Given the description of an element on the screen output the (x, y) to click on. 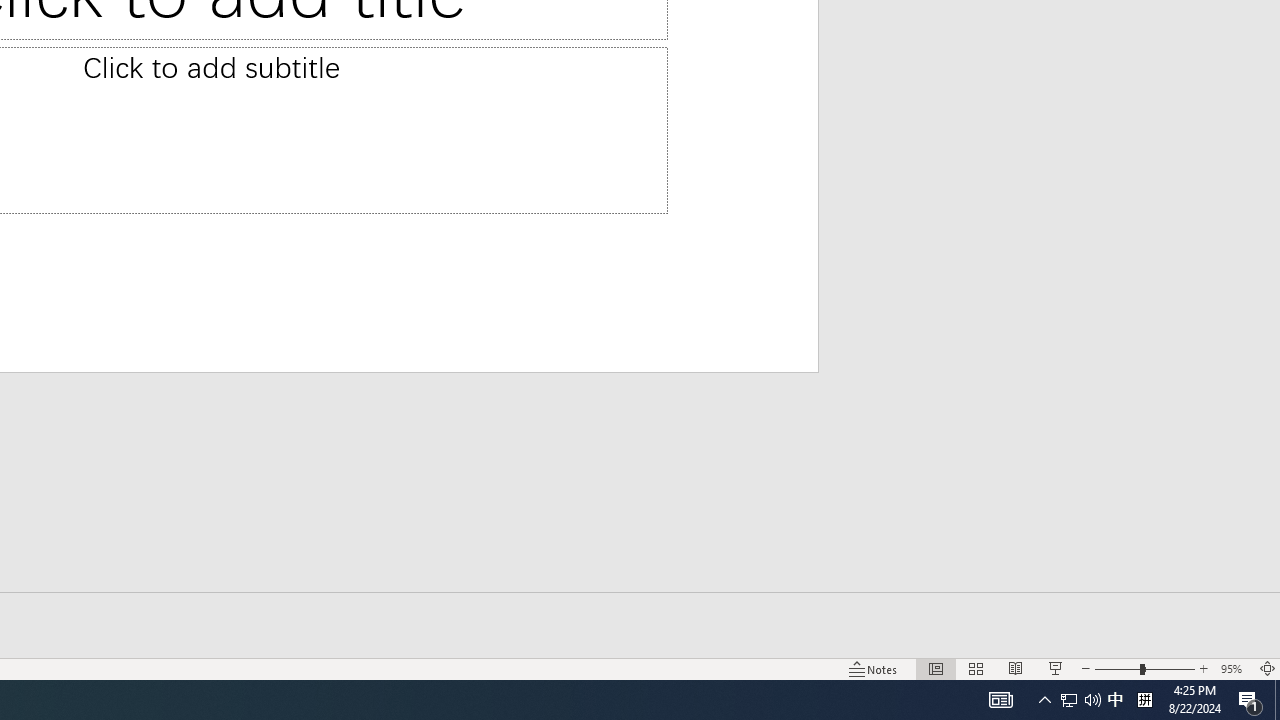
Zoom 95% (1234, 668)
